Given the description of an element on the screen output the (x, y) to click on. 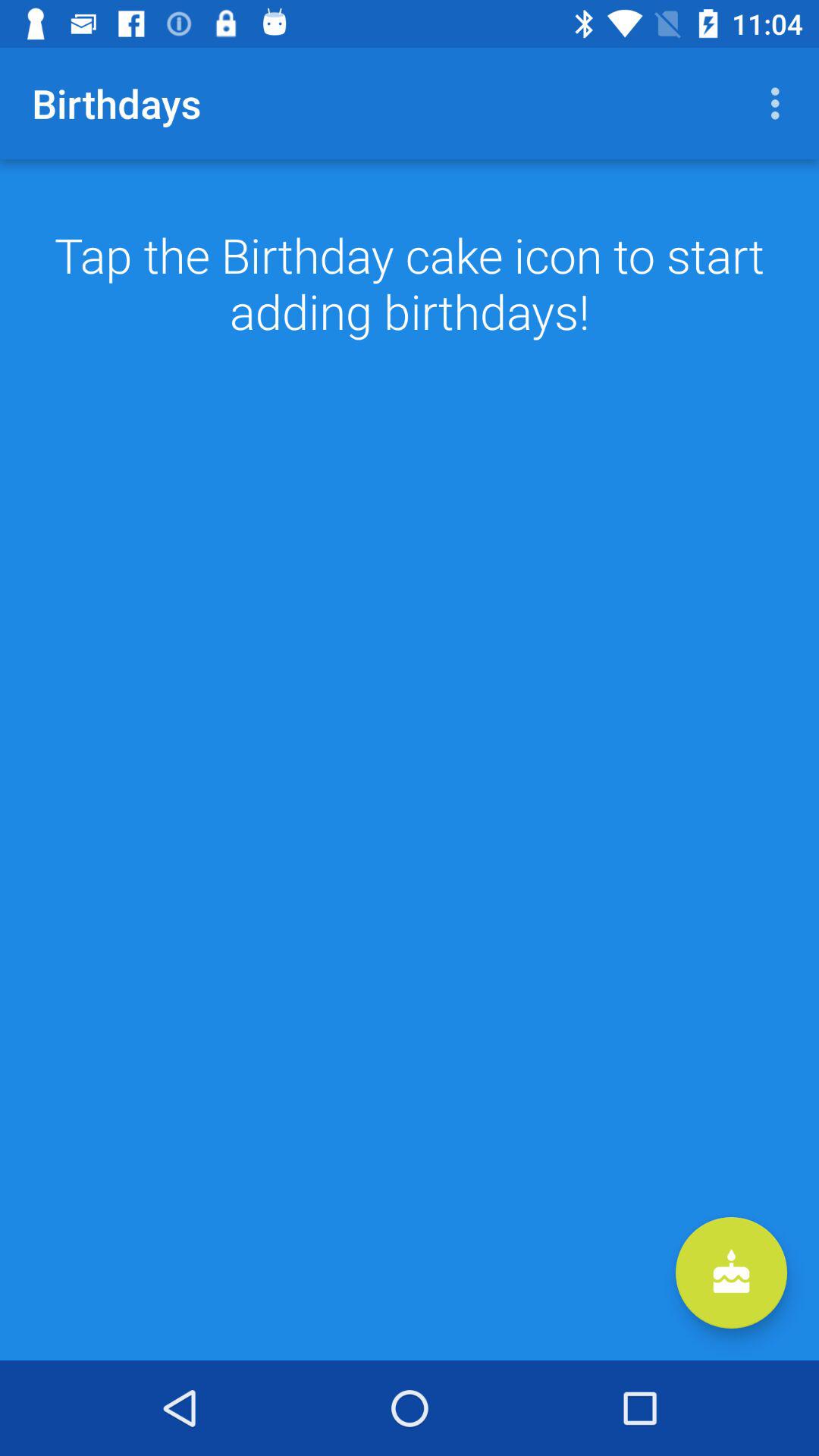
tap icon below the tap the birthday icon (731, 1272)
